Given the description of an element on the screen output the (x, y) to click on. 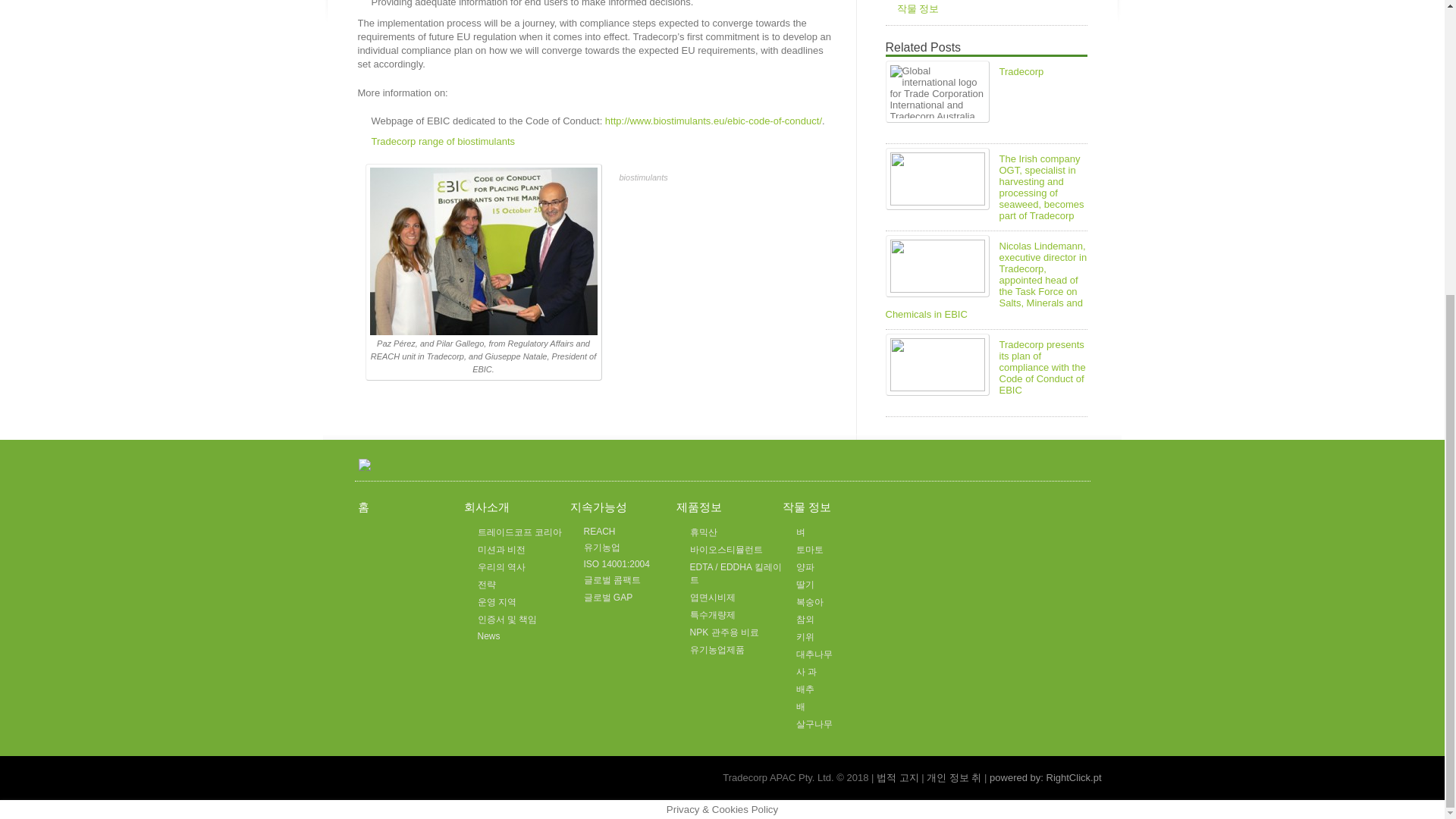
Tradecorp (1020, 71)
Syndicate this site using RSS (1080, 464)
Biostimulants (443, 141)
